Given the description of an element on the screen output the (x, y) to click on. 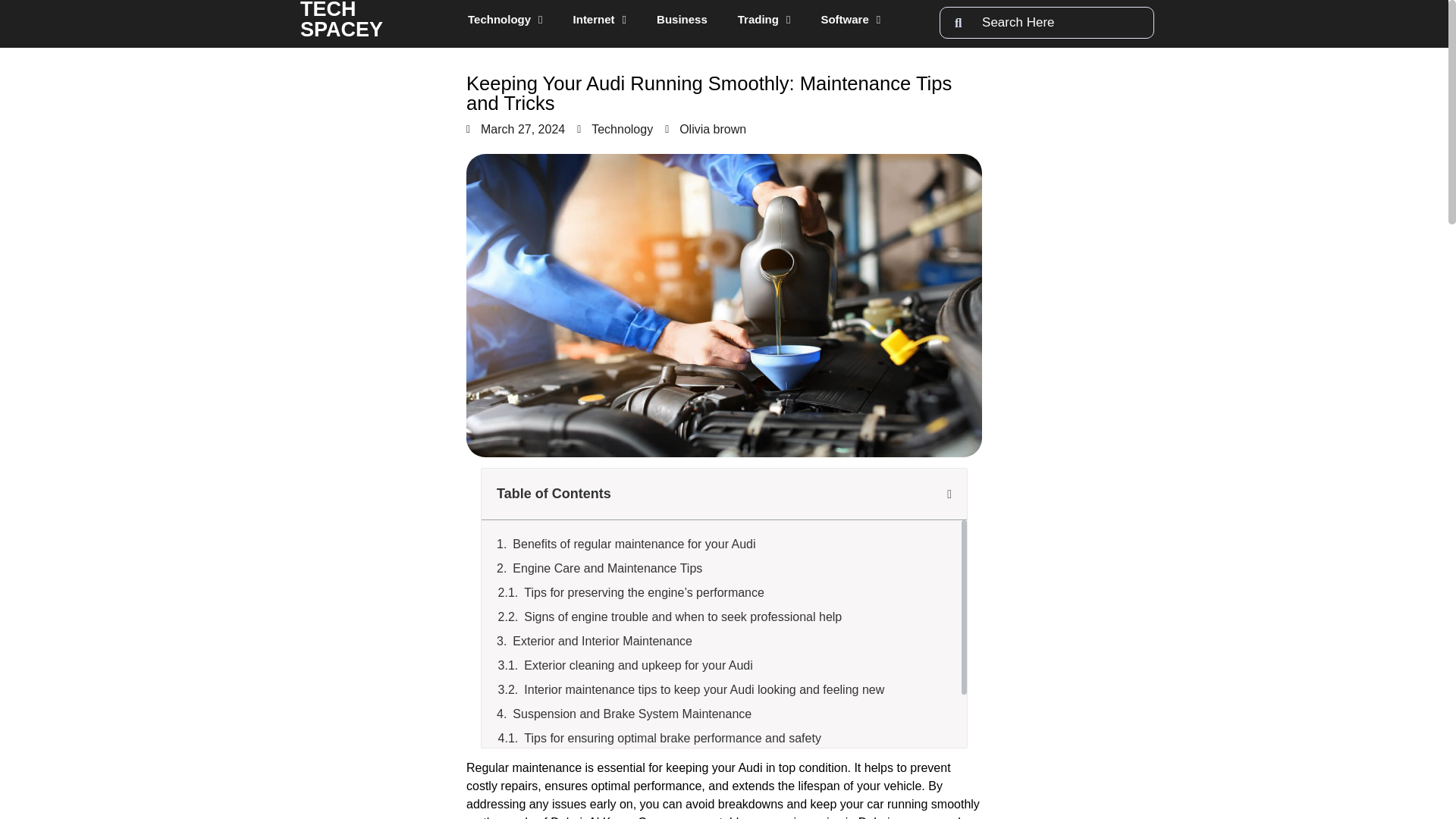
Trading (764, 19)
Internet (599, 19)
Software (850, 19)
Technology (504, 19)
TECH SPACEY (340, 20)
Business (682, 19)
